Given the description of an element on the screen output the (x, y) to click on. 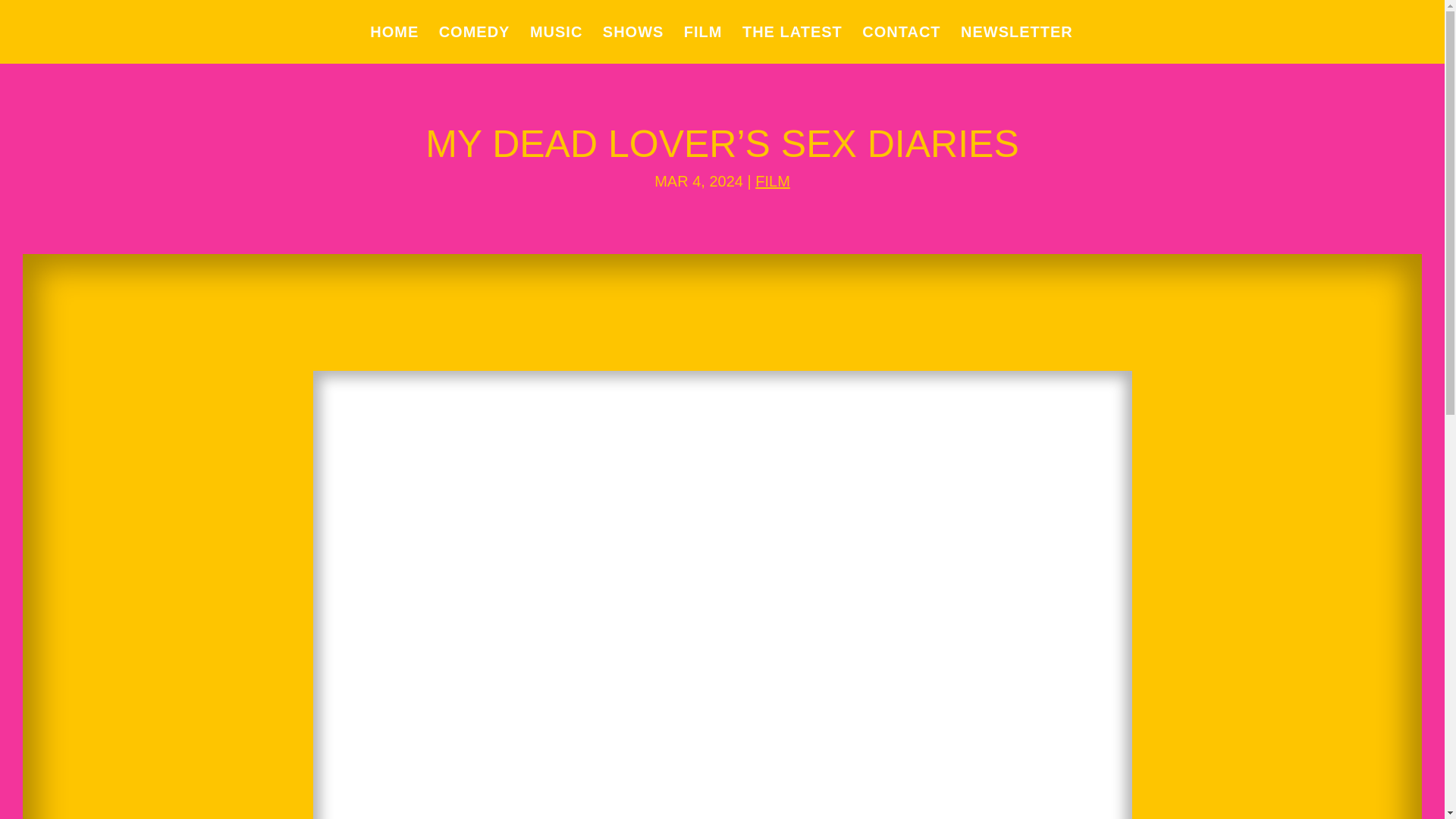
SHOWS (632, 44)
HOME (394, 44)
THE LATEST (792, 44)
NEWSLETTER (1016, 44)
FILM (703, 44)
COMEDY (475, 44)
FILM (772, 180)
CONTACT (900, 44)
MUSIC (555, 44)
